Given the description of an element on the screen output the (x, y) to click on. 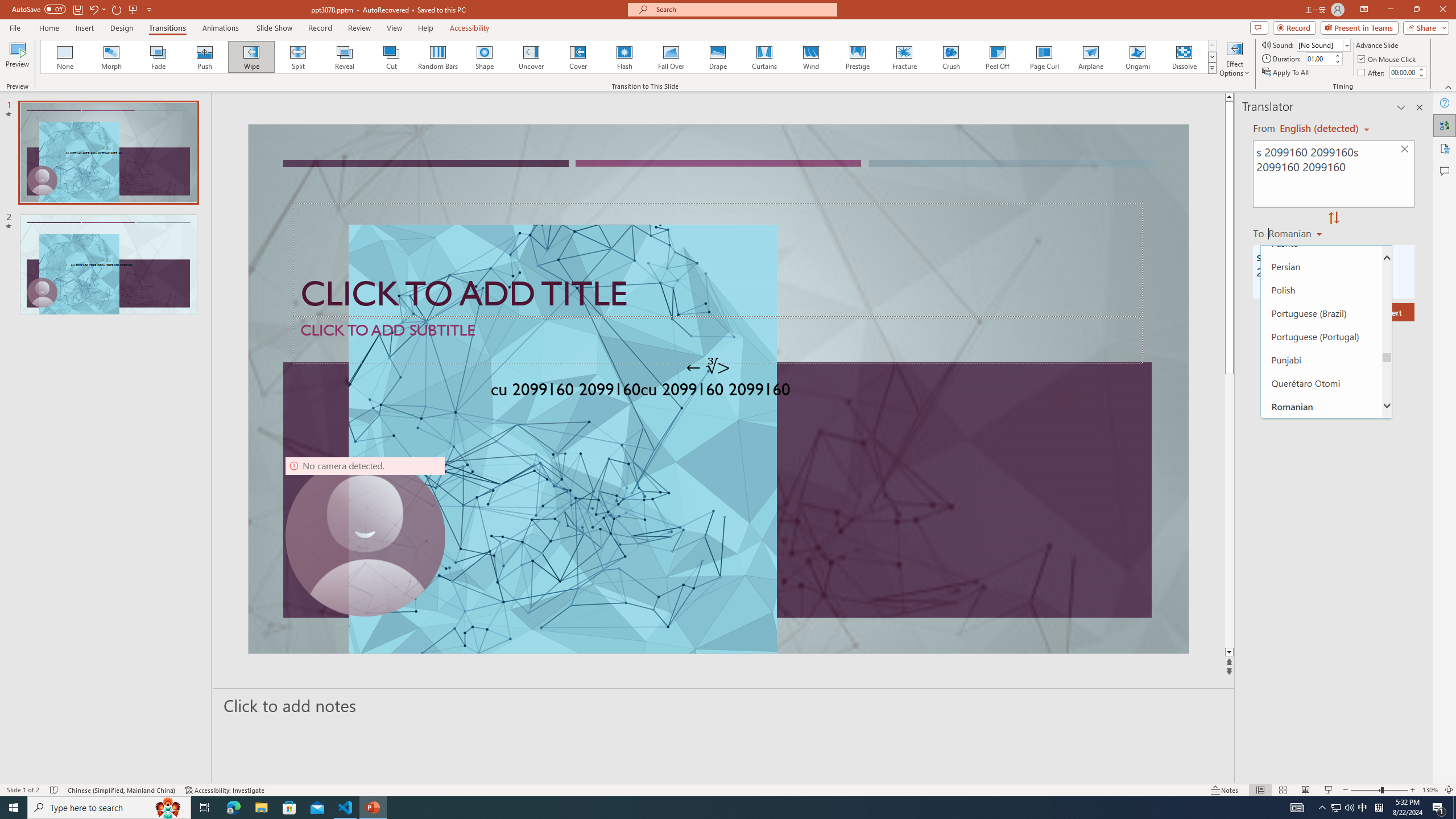
+86 159 0032 4640 (1182, 382)
Class: ___1lmltc5 f1agt3bx f12qytpq (1348, 122)
Gmail (362, 78)
Problems (Ctrl+Shift+M) (323, 533)
Wikipedia, the free encyclopedia (247, 78)
